Given the description of an element on the screen output the (x, y) to click on. 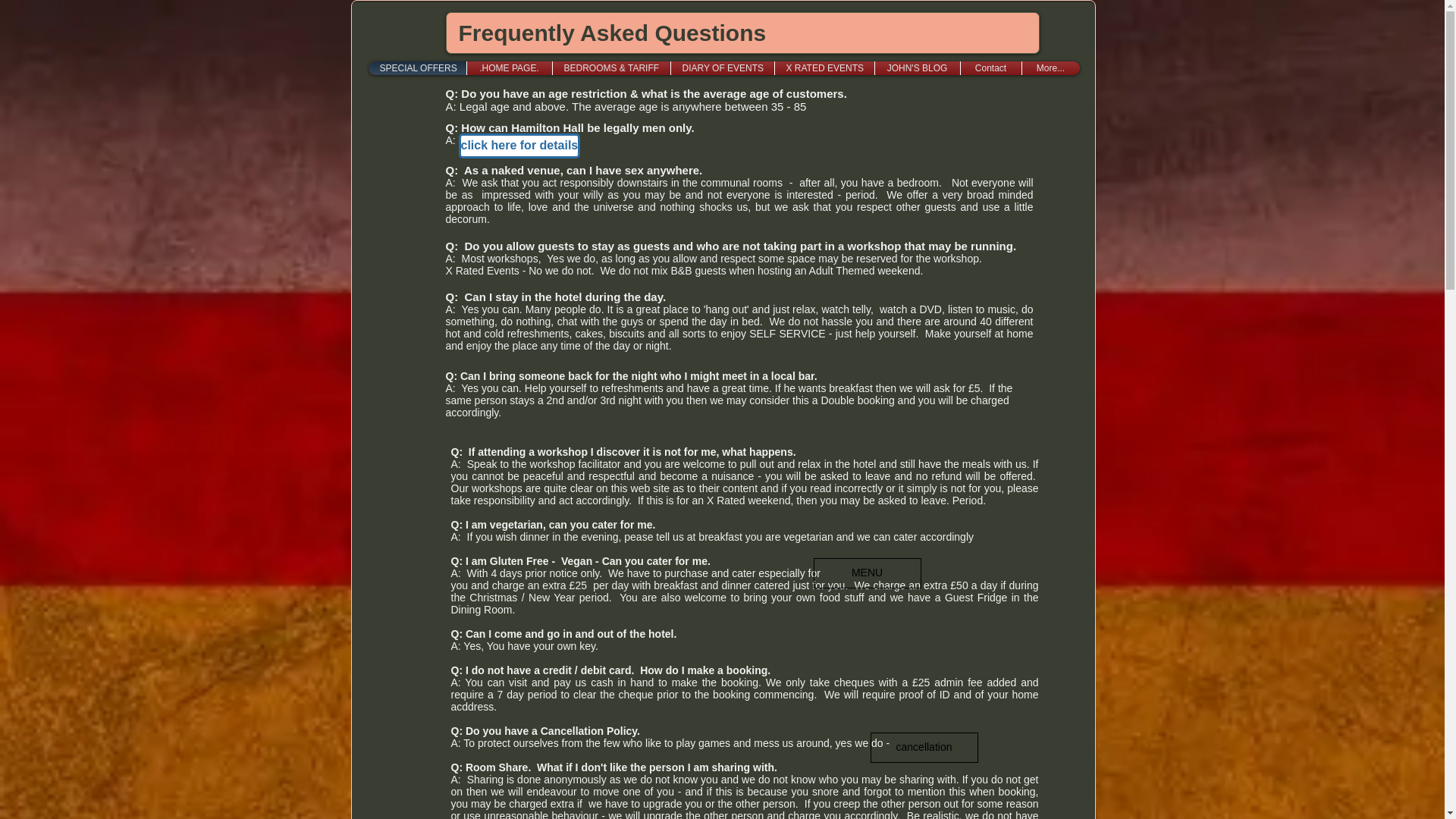
X RATED EVENTS (823, 68)
JOHN'S BLOG (916, 68)
DIARY OF EVENTS (722, 68)
SPECIAL OFFERS (416, 68)
.HOME PAGE. (508, 68)
